Given the description of an element on the screen output the (x, y) to click on. 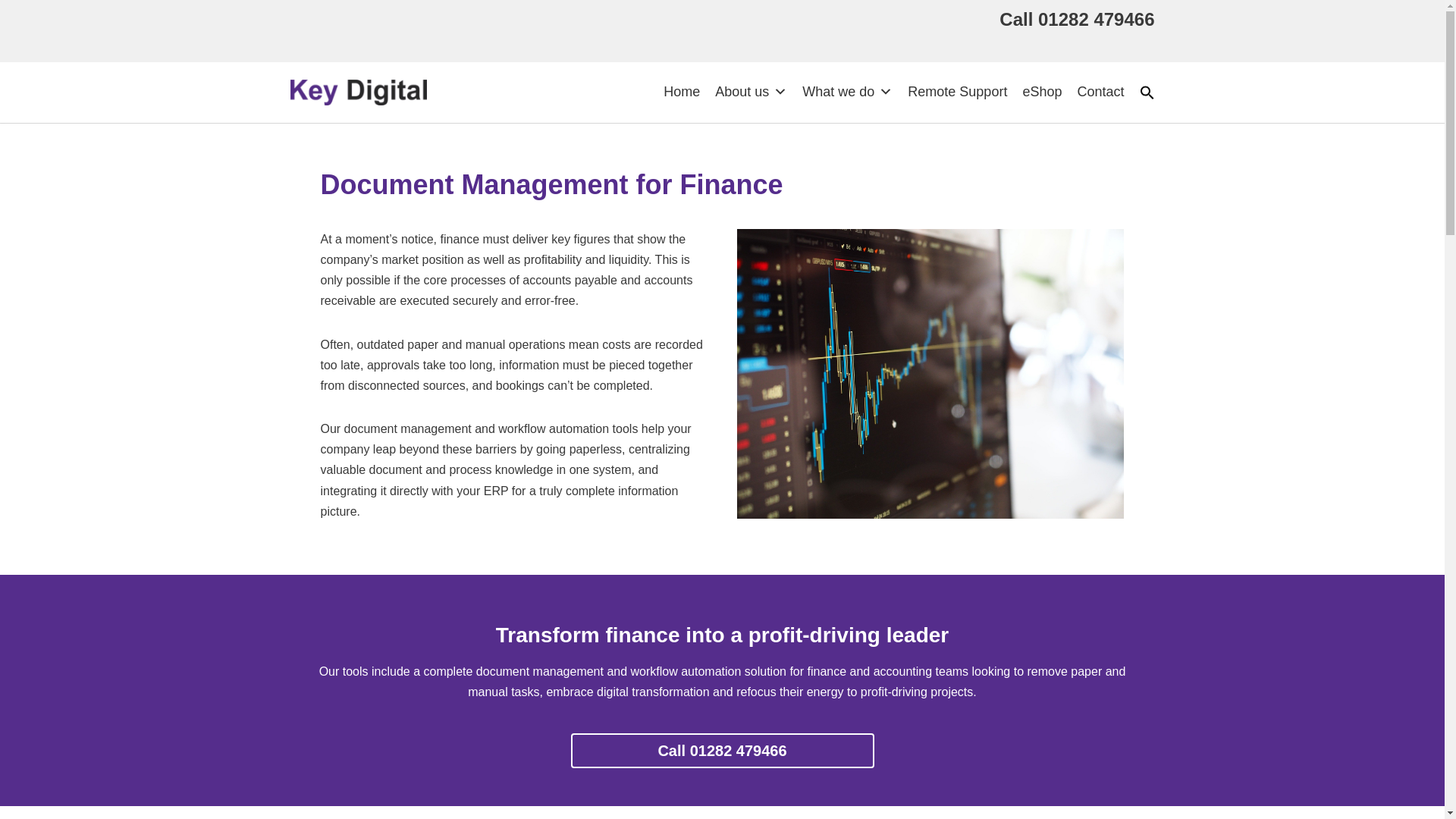
About us (750, 91)
What we do (846, 91)
Remote Support (956, 91)
Home (681, 91)
Skip to content (11, 31)
01282 479466 (1096, 19)
